Given the description of an element on the screen output the (x, y) to click on. 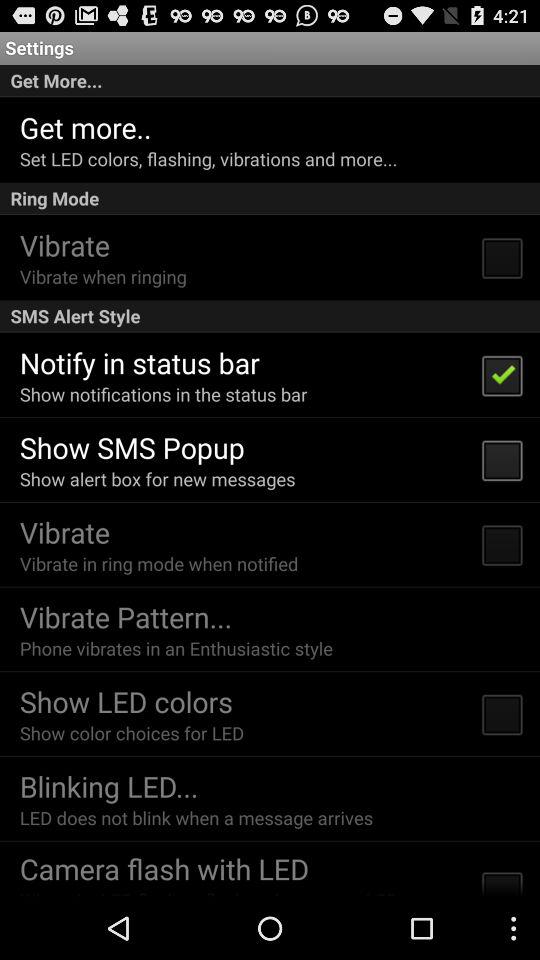
turn off the item above notify in status app (270, 316)
